Given the description of an element on the screen output the (x, y) to click on. 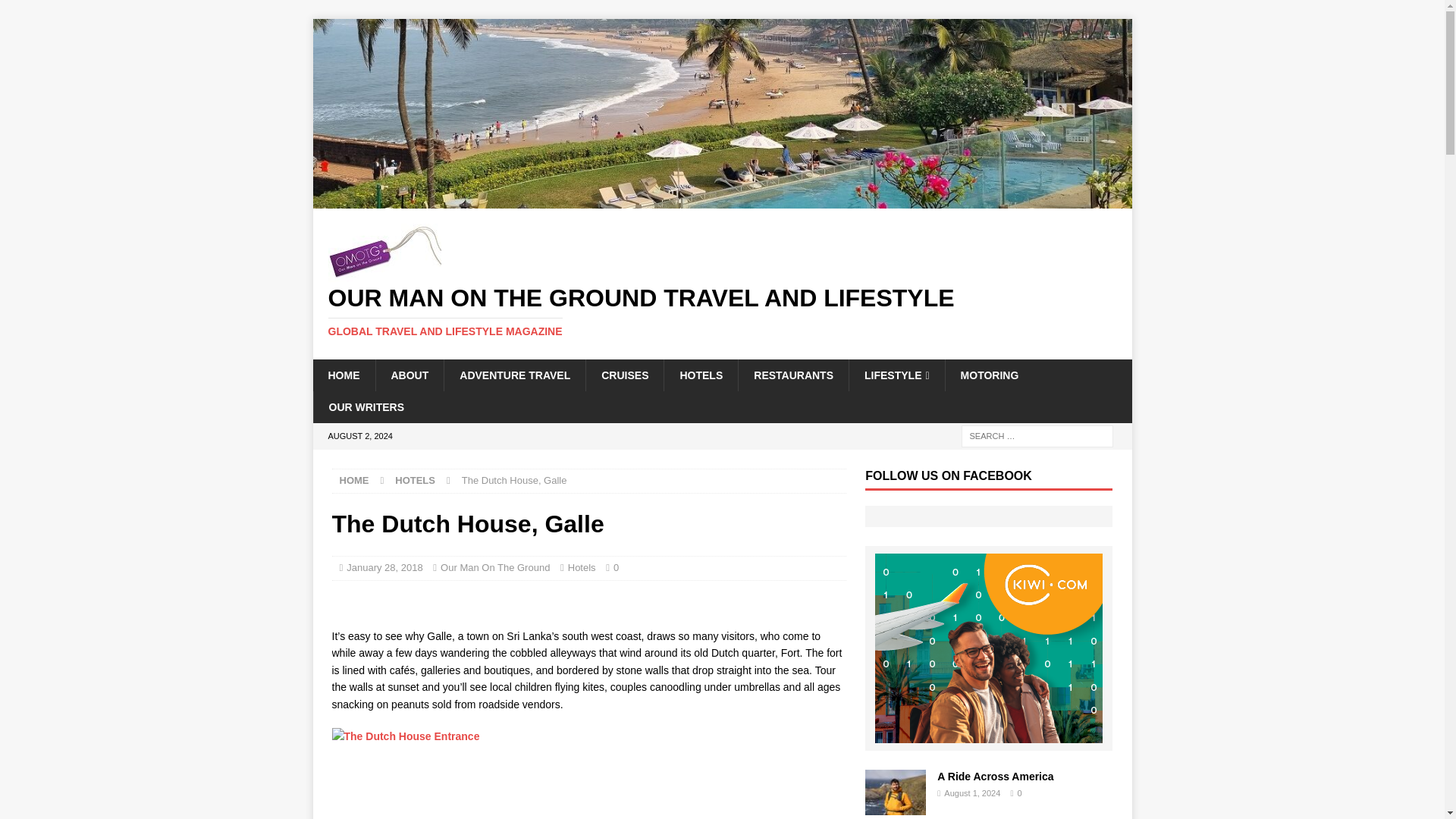
RESTAURANTS (793, 375)
MOTORING (988, 375)
OUR WRITERS (366, 407)
Search (56, 11)
January 28, 2018 (384, 567)
LIFESTYLE (896, 375)
Our Man On The Ground Travel and Lifestyle (721, 311)
HOTELS (414, 480)
Hotels (581, 567)
HOTELS (700, 375)
HOME (354, 480)
ADVENTURE TRAVEL (514, 375)
CRUISES (624, 375)
HOME (343, 375)
